Given the description of an element on the screen output the (x, y) to click on. 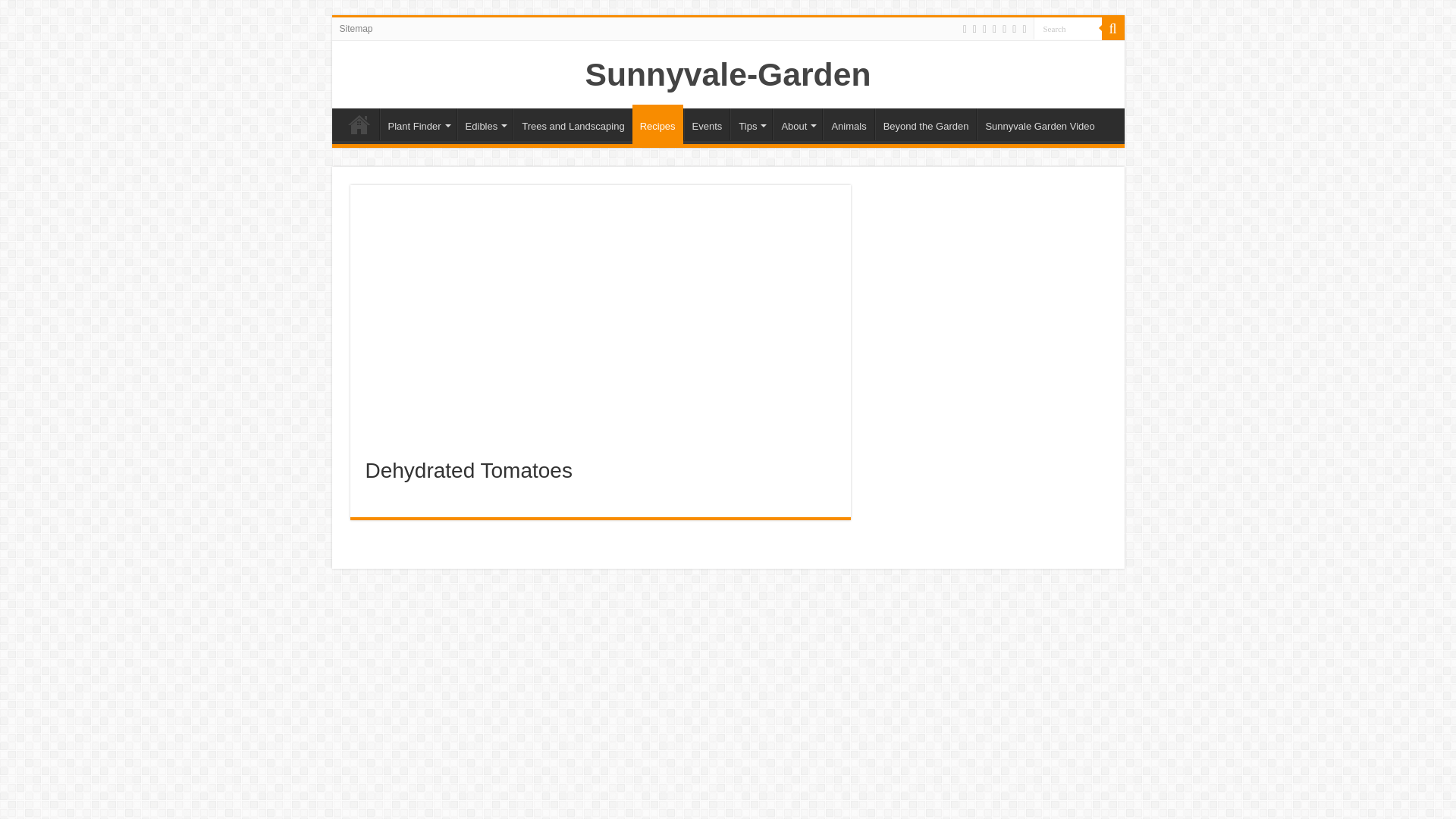
Trees and Landscaping (572, 124)
Search (1066, 28)
Plant Finder (416, 124)
Search (1112, 28)
Home (358, 124)
Tips (750, 124)
Events (707, 124)
Sunnyvale-Garden (727, 74)
Sitemap (355, 28)
Edibles (485, 124)
Search (1066, 28)
Recipes (656, 124)
Search (1066, 28)
